Given the description of an element on the screen output the (x, y) to click on. 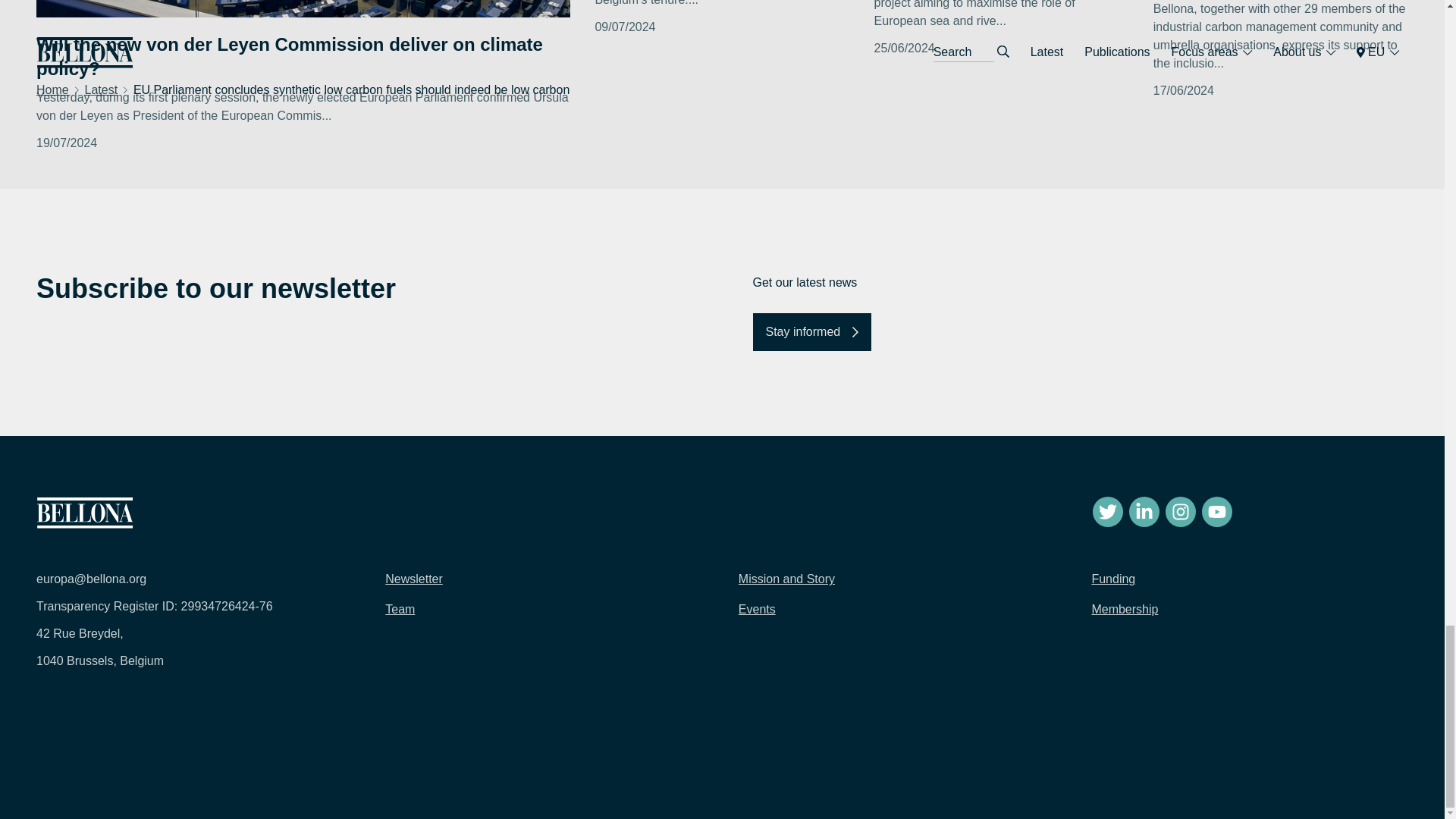
linkedin (1143, 511)
youtube (1216, 511)
twitter (1107, 511)
instagram (1180, 511)
